Given the description of an element on the screen output the (x, y) to click on. 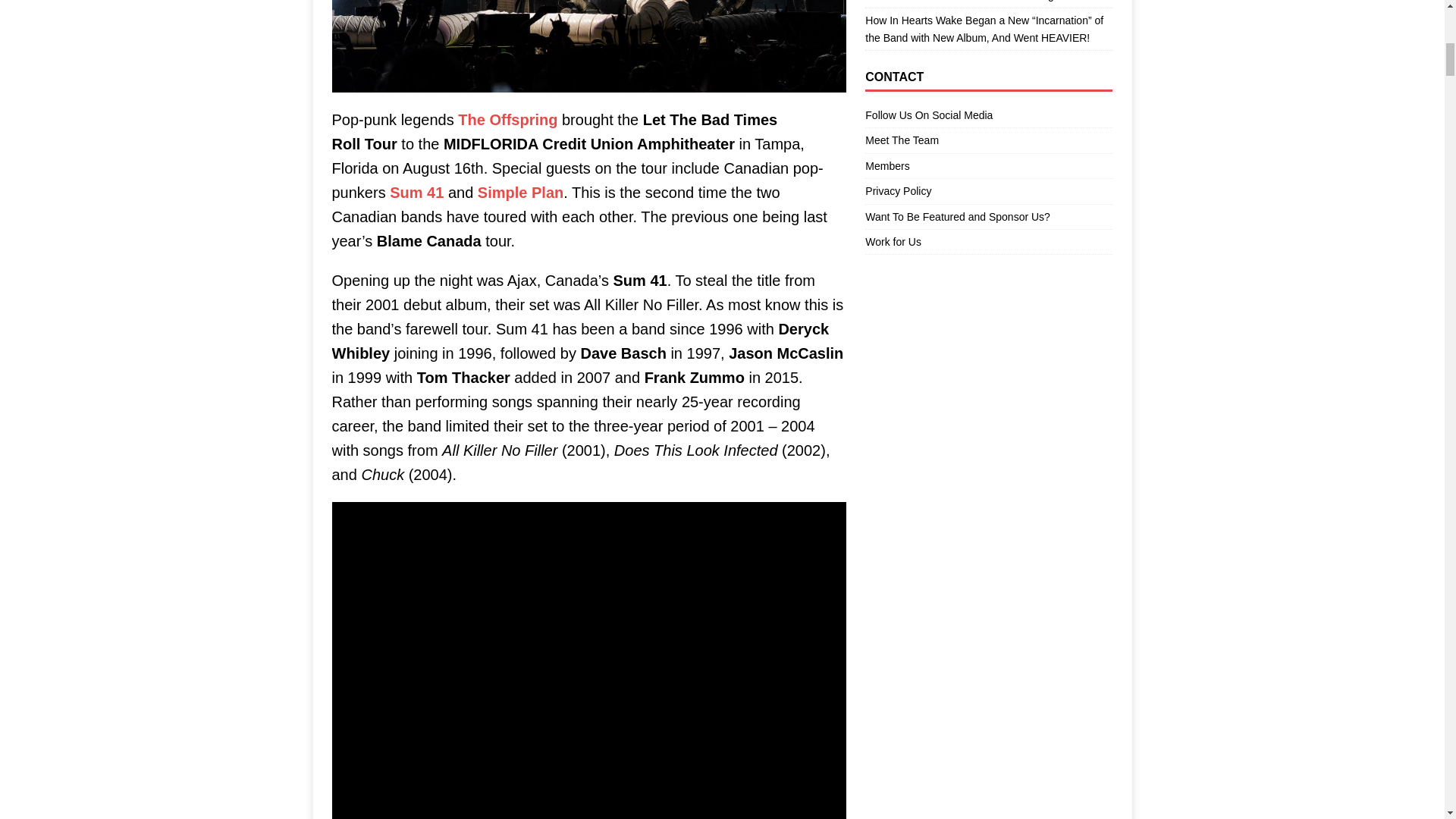
Simple Plan (520, 192)
The Offspring (510, 119)
The Offspring - Tampa - 081623-3 (588, 46)
Sum 41 (417, 192)
